Given the description of an element on the screen output the (x, y) to click on. 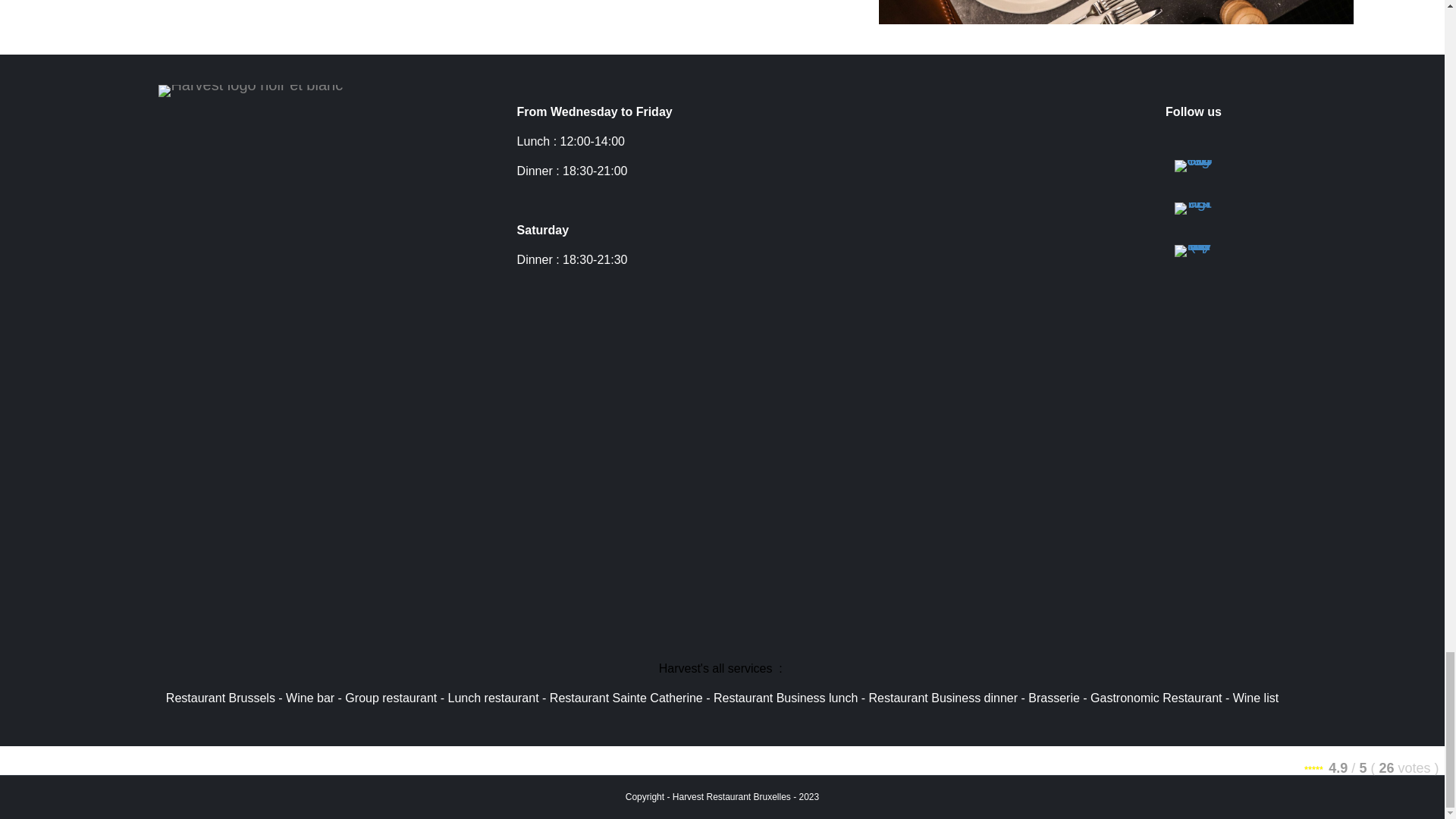
Restaurant Business dinner (943, 697)
Restaurant Brussels (220, 697)
Restaurant business dinner Brussels (1116, 11)
Harvest logo noir et blanc (250, 91)
logo-facebook4 (1193, 165)
Restaurant Business lunch (785, 697)
Wine bar (309, 697)
Wine list (1255, 697)
Lunch restaurant (493, 697)
instagram2 (1193, 208)
